Given the description of an element on the screen output the (x, y) to click on. 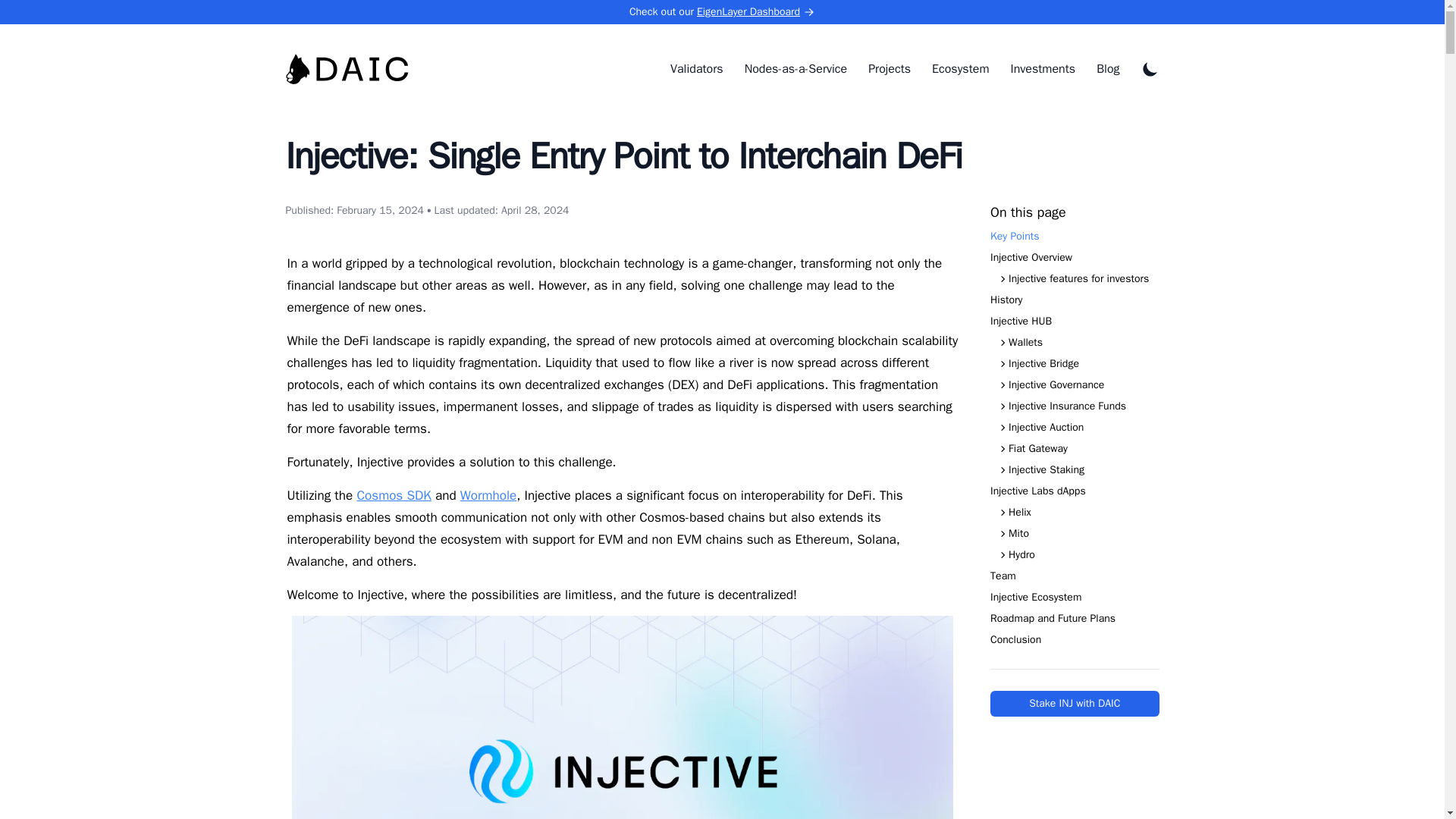
Validators (696, 68)
Blog (1107, 68)
Ecosystem (959, 68)
Nodes-as-a-Service (795, 68)
EigenLayer Dashboard (756, 11)
Cosmos SDK (393, 495)
Investments (1042, 68)
Wormhole (488, 495)
Projects (889, 68)
